Given the description of an element on the screen output the (x, y) to click on. 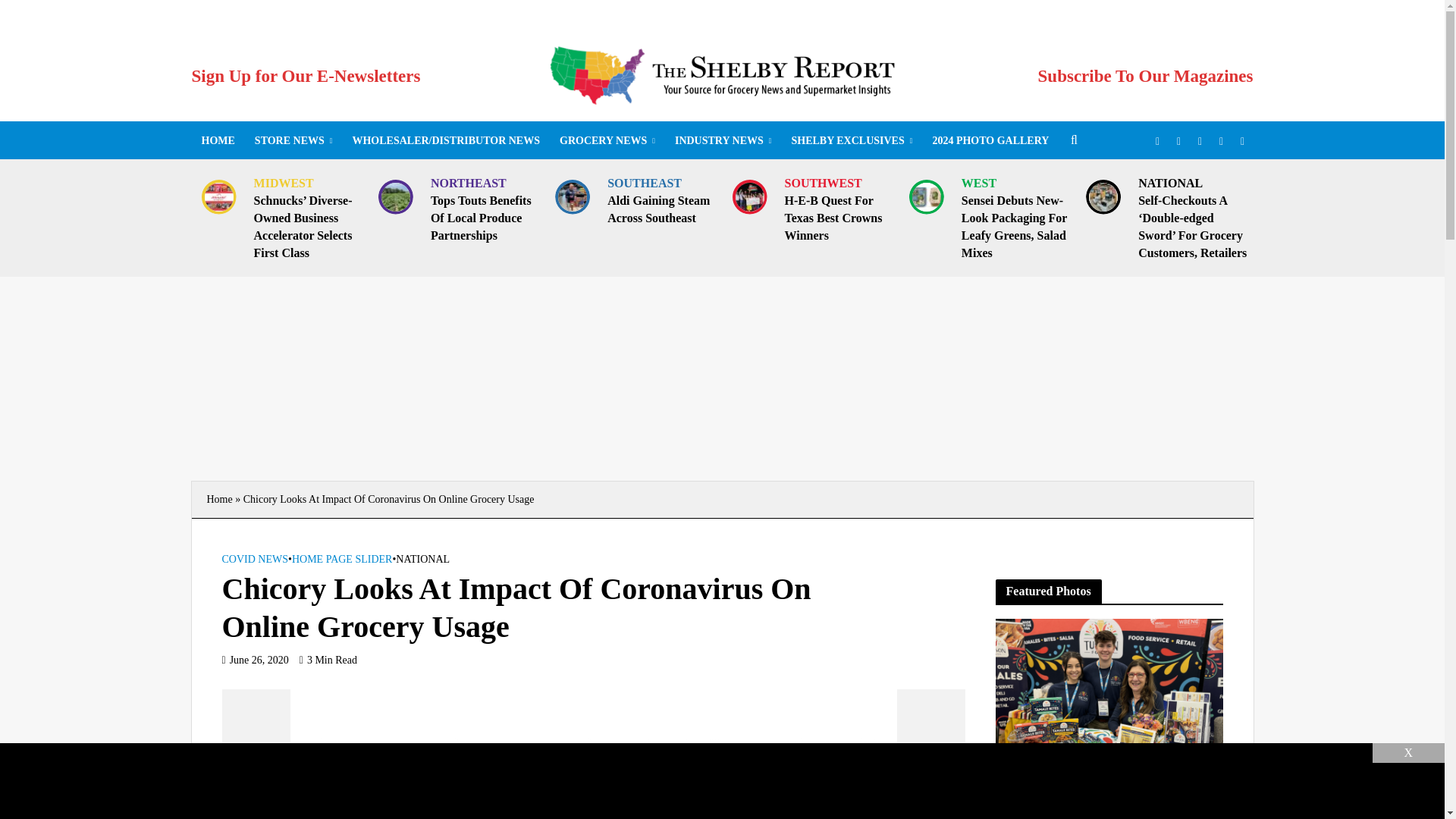
INDUSTRY NEWS (723, 140)
GROCERY NEWS (607, 140)
Sign Up for Our E-Newsletters (305, 76)
Subscribe To Our Magazines (1145, 76)
STORE NEWS (293, 140)
HOME (217, 140)
SHELBY EXCLUSIVES (850, 140)
